Given the description of an element on the screen output the (x, y) to click on. 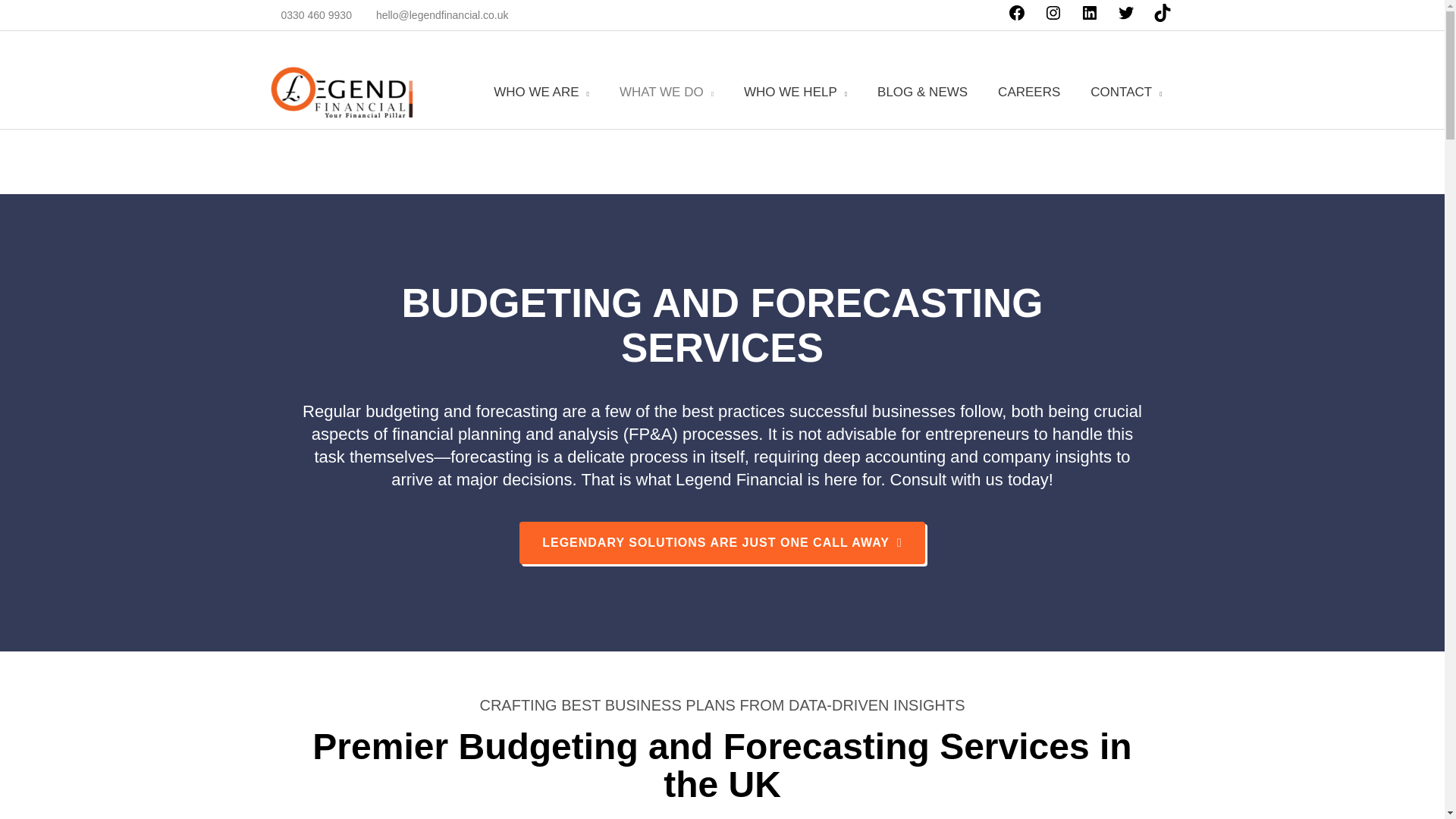
LinkedIn (1089, 17)
Twitter (1125, 17)
Instagram (1052, 17)
Facebook (1016, 17)
WHAT WE DO (666, 91)
WHO WE ARE (541, 91)
0330 460 9930 (308, 15)
TikTok (1162, 17)
